Given the description of an element on the screen output the (x, y) to click on. 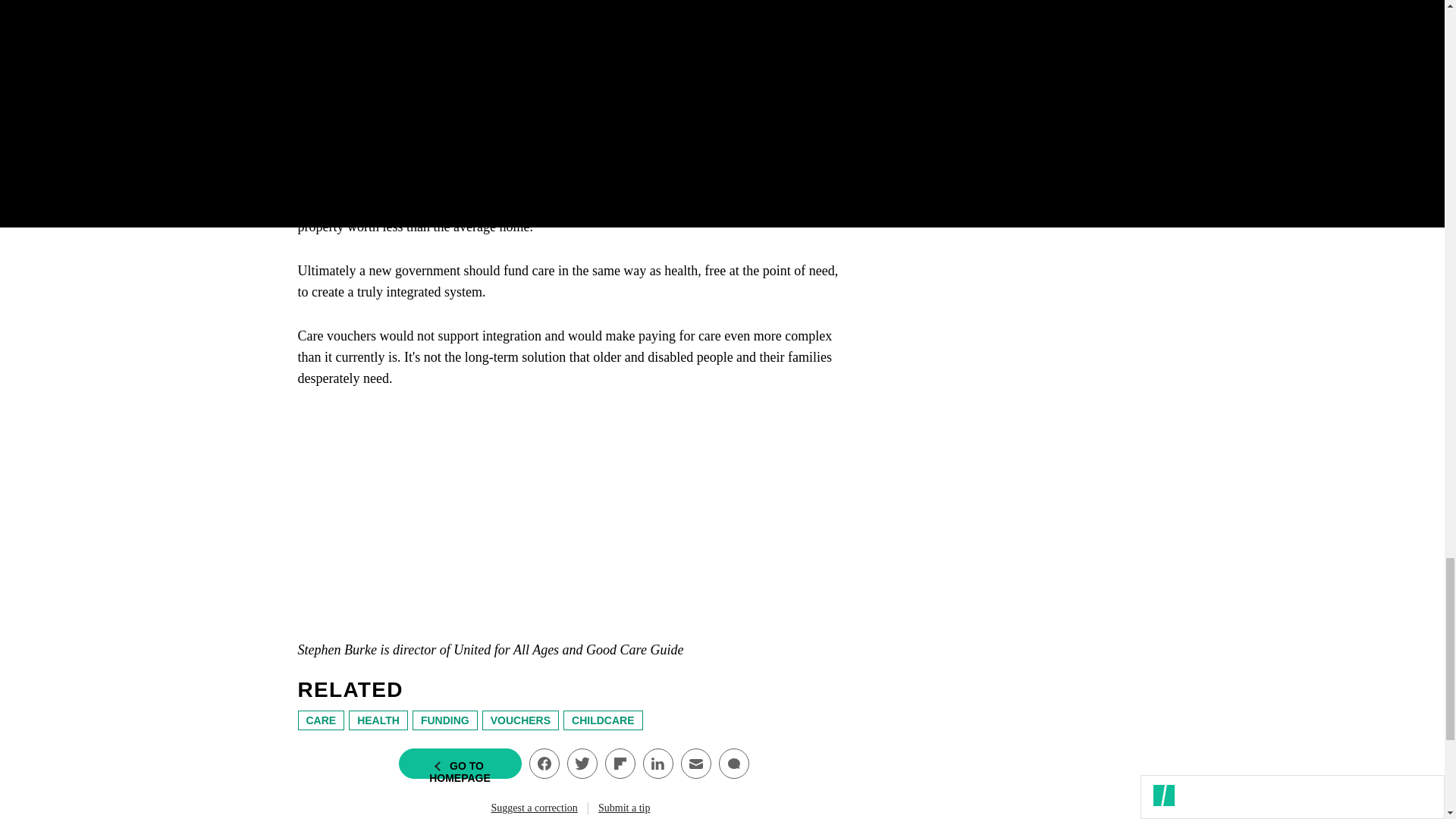
SIGN UP (1098, 157)
